Given the description of an element on the screen output the (x, y) to click on. 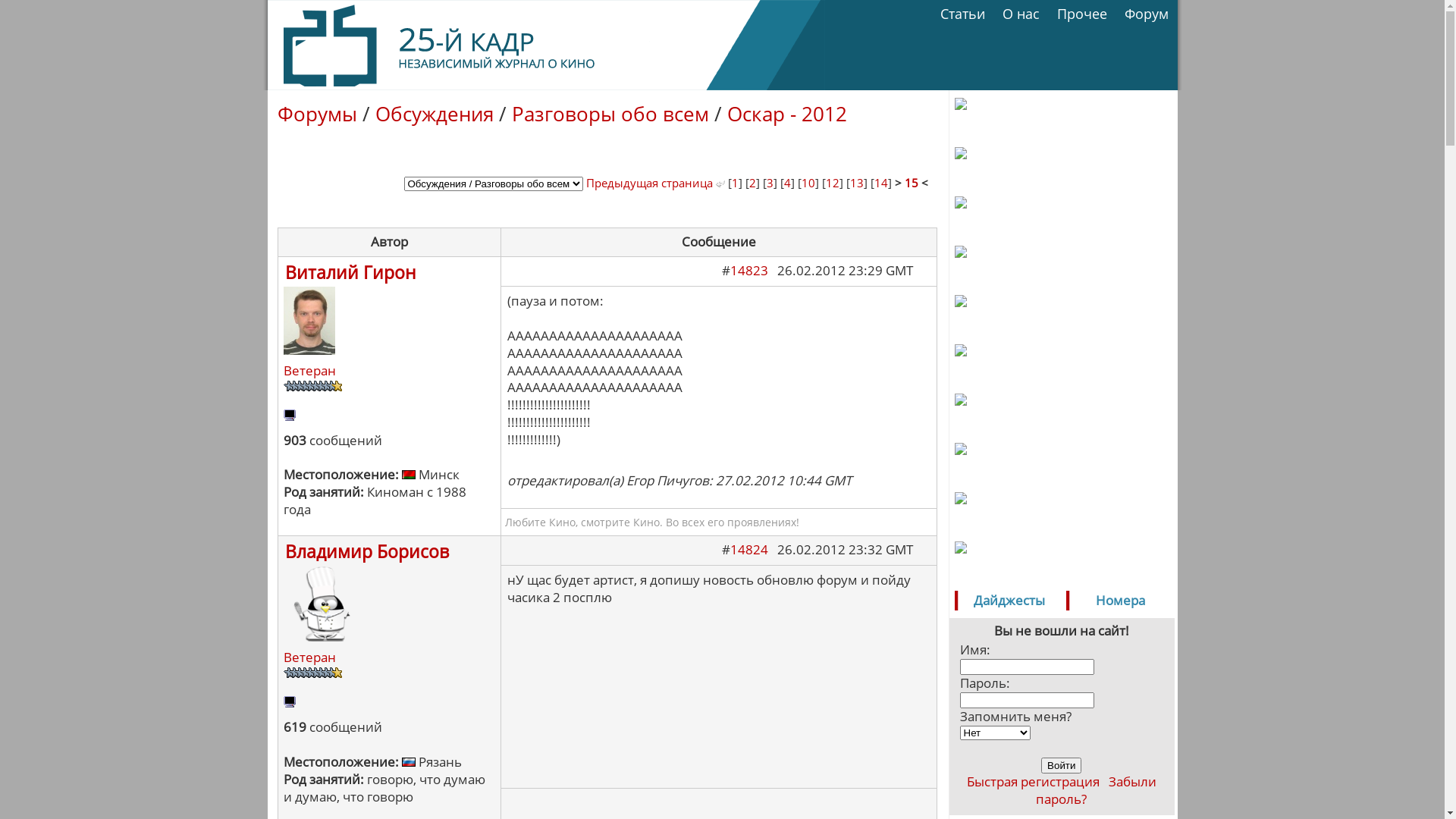
14 Element type: text (880, 182)
10 Element type: text (807, 182)
4 Element type: text (787, 182)
13 Element type: text (855, 182)
12 Element type: text (831, 182)
3 Element type: text (768, 182)
14823 Element type: text (748, 270)
15 Element type: text (910, 182)
14824 Element type: text (748, 549)
2 Element type: text (752, 182)
1 Element type: text (734, 182)
